Given the description of an element on the screen output the (x, y) to click on. 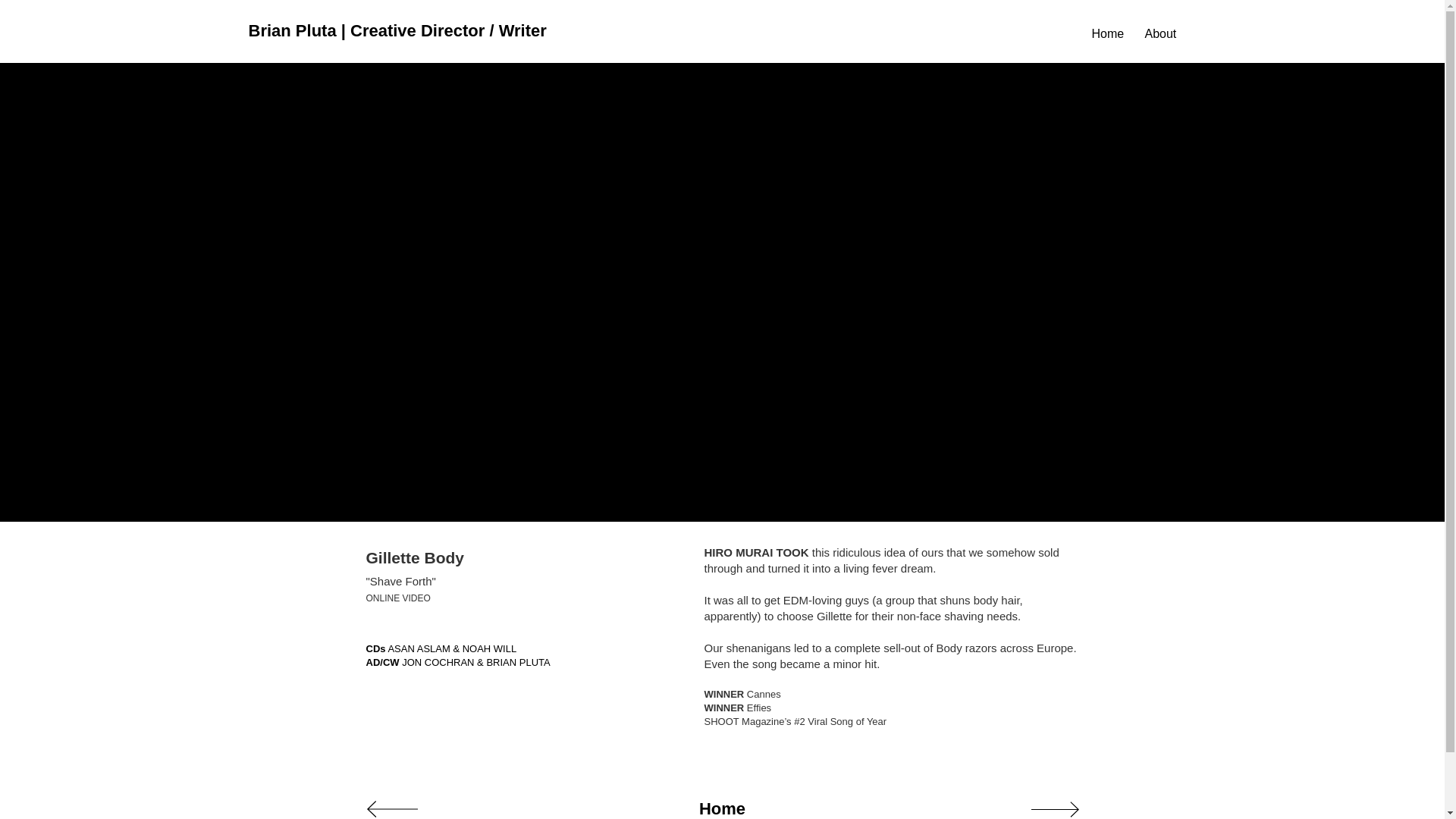
Home (1106, 34)
Home (722, 803)
About (1159, 34)
